Given the description of an element on the screen output the (x, y) to click on. 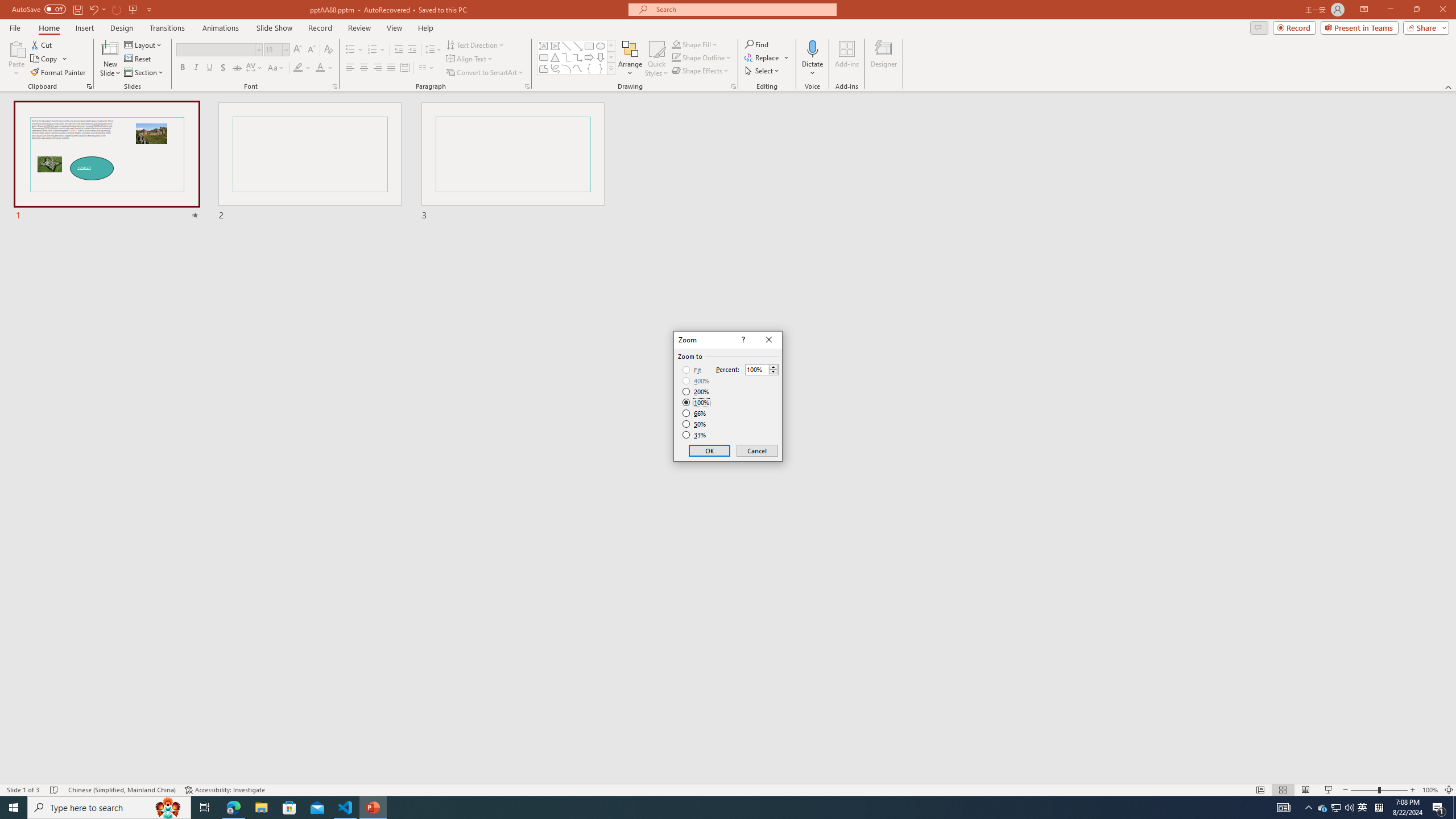
Percent (761, 369)
